Given the description of an element on the screen output the (x, y) to click on. 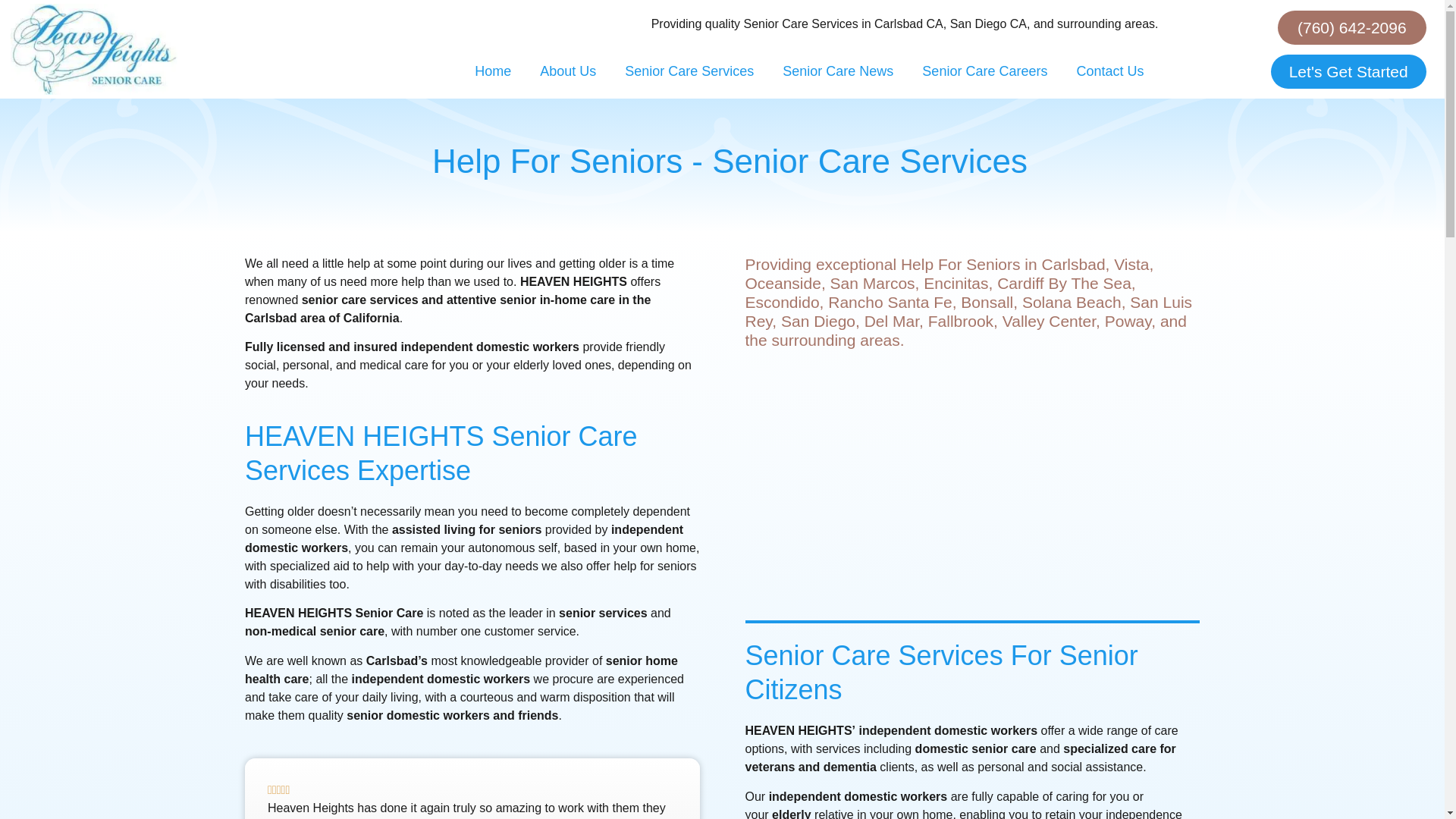
Senior Care News (837, 70)
Senior Care Careers (984, 70)
Contact Us (1109, 70)
Let's Get Started (1348, 71)
Home (492, 70)
About Us (567, 70)
Senior Care Services (689, 70)
